Given the description of an element on the screen output the (x, y) to click on. 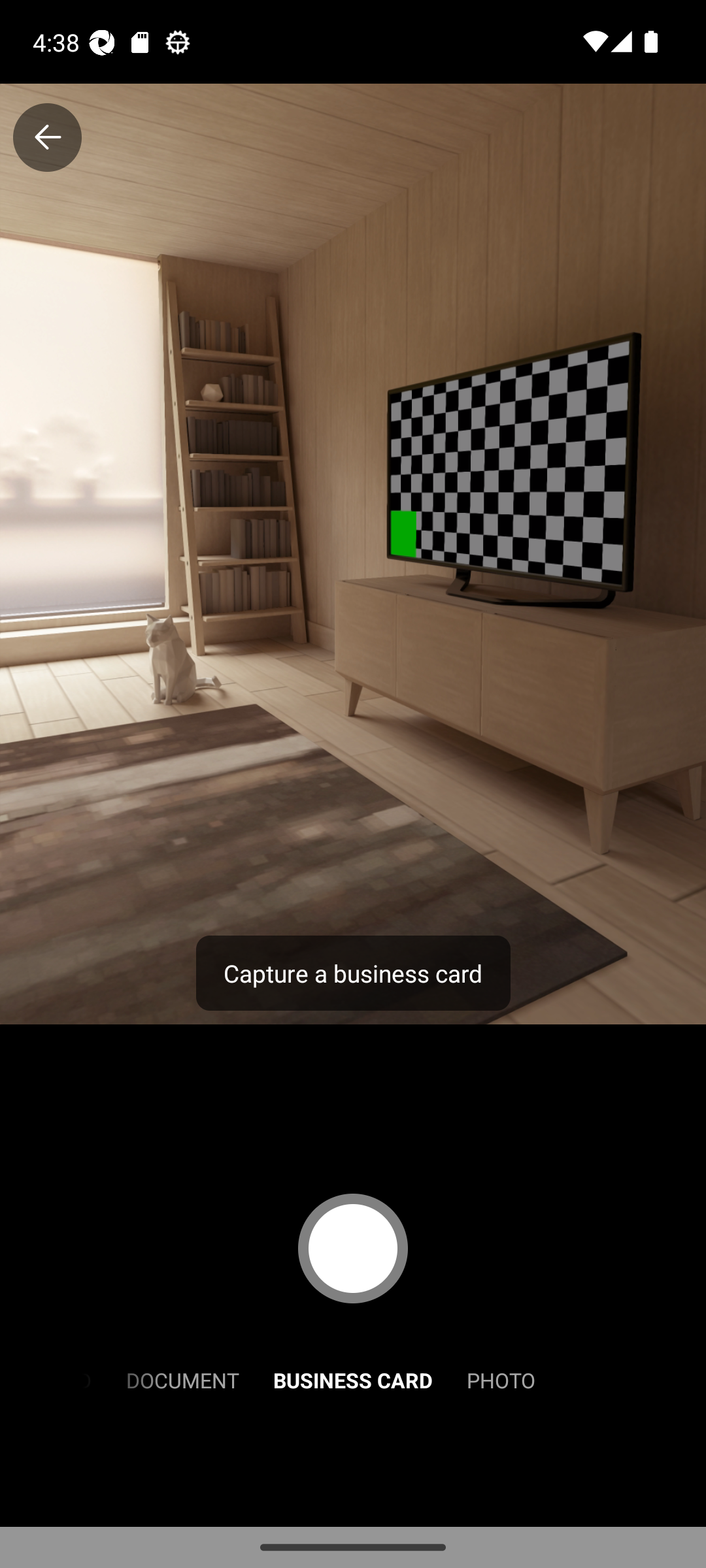
Close (47, 137)
Capture (352, 1248)
DOCUMENT (182, 1379)
BUSINESS CARD (352, 1379)
PHOTO (501, 1379)
